Given the description of an element on the screen output the (x, y) to click on. 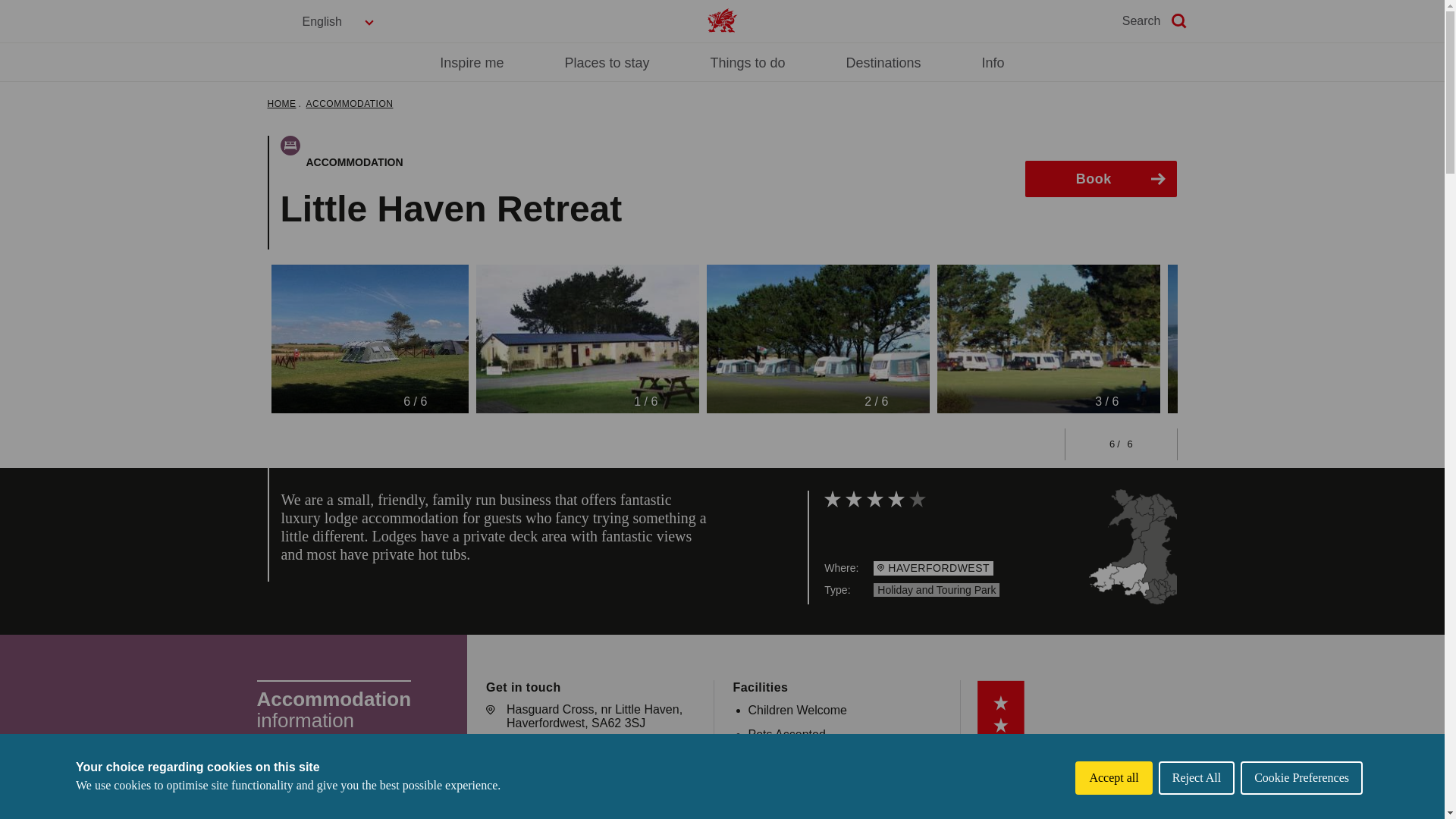
Cookie Preferences (1301, 815)
Homepage (721, 20)
Places to stay (606, 62)
Destinations (883, 62)
English (339, 21)
Previous (1084, 432)
Search (1156, 21)
HOME (280, 103)
Things to do (747, 62)
Next (1152, 432)
Inspire me (471, 62)
ACCOMMODATION (349, 103)
Book (1100, 178)
